Given the description of an element on the screen output the (x, y) to click on. 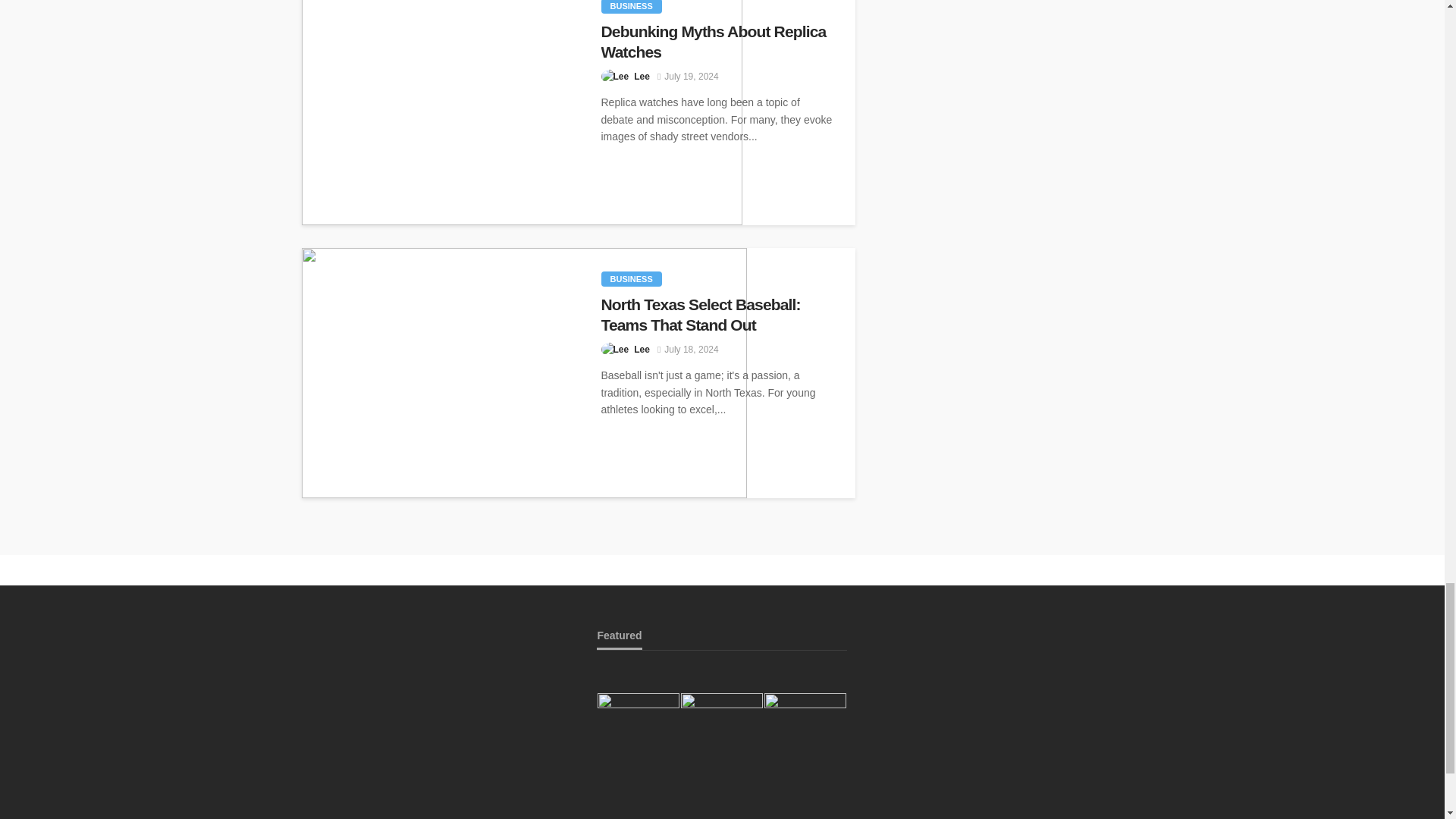
Debunking Myths About Replica Watches (715, 42)
Business (630, 6)
North Texas Select Baseball: Teams That Stand Out (523, 372)
BUSINESS (630, 6)
Debunking Myths About Replica Watches (521, 112)
Debunking Myths About Replica Watches (715, 42)
